Given the description of an element on the screen output the (x, y) to click on. 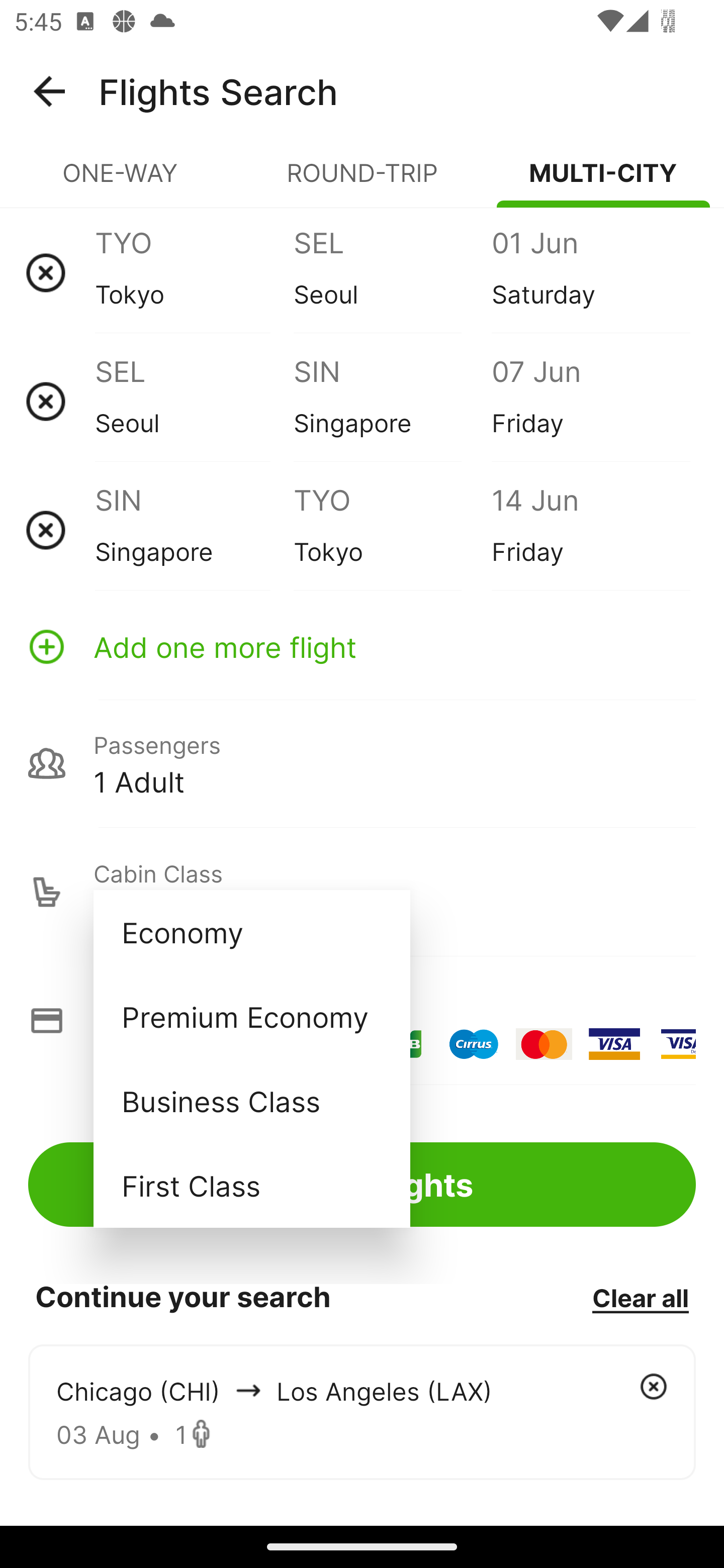
Economy (251, 931)
Premium Economy (251, 1015)
Business Class (251, 1100)
First Class (251, 1185)
